Given the description of an element on the screen output the (x, y) to click on. 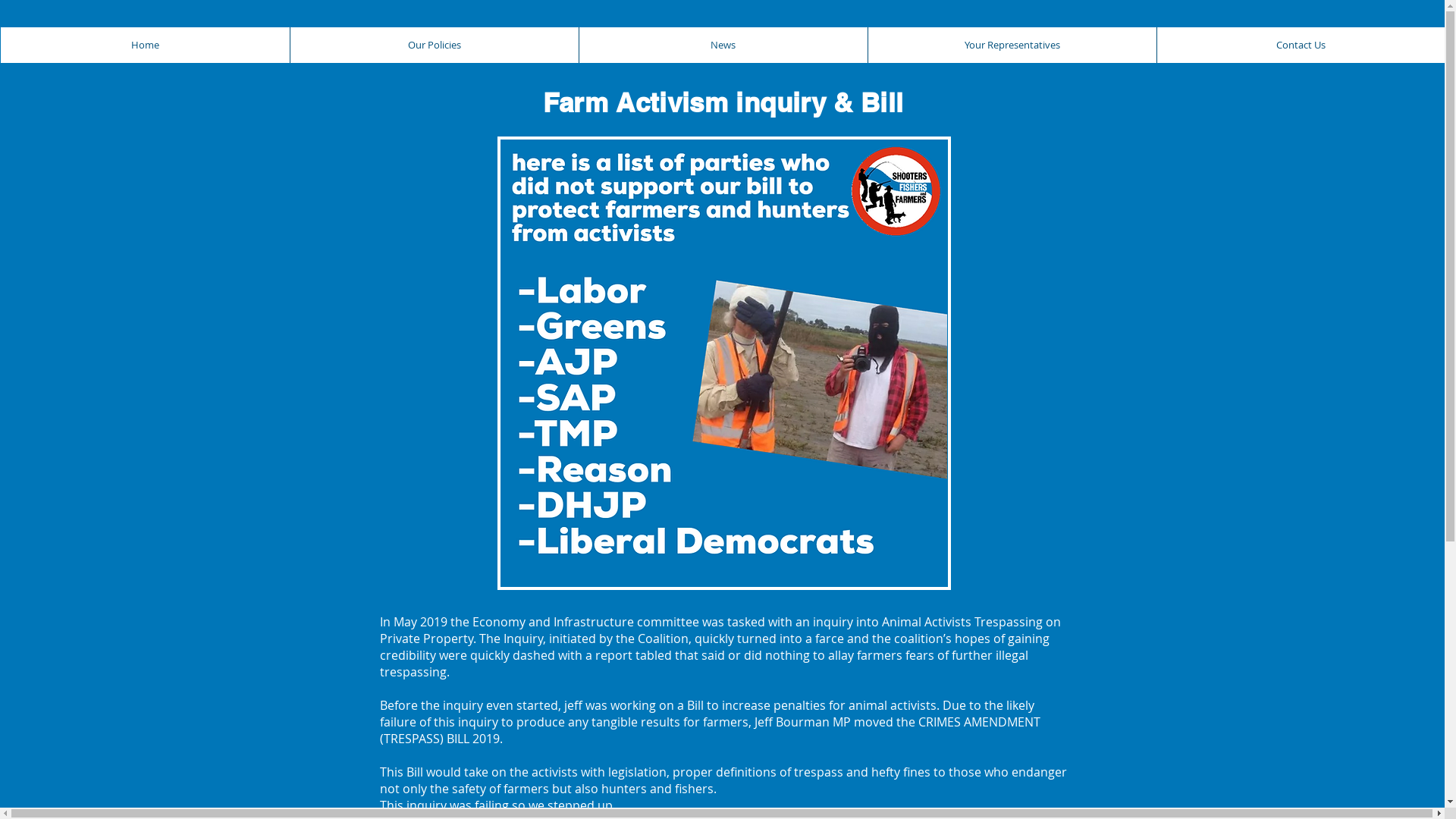
Your Representatives Element type: text (1011, 44)
Contact Us Element type: text (1299, 44)
Our Policies Element type: text (433, 44)
Home Element type: text (144, 44)
News Element type: text (721, 44)
